Given the description of an element on the screen output the (x, y) to click on. 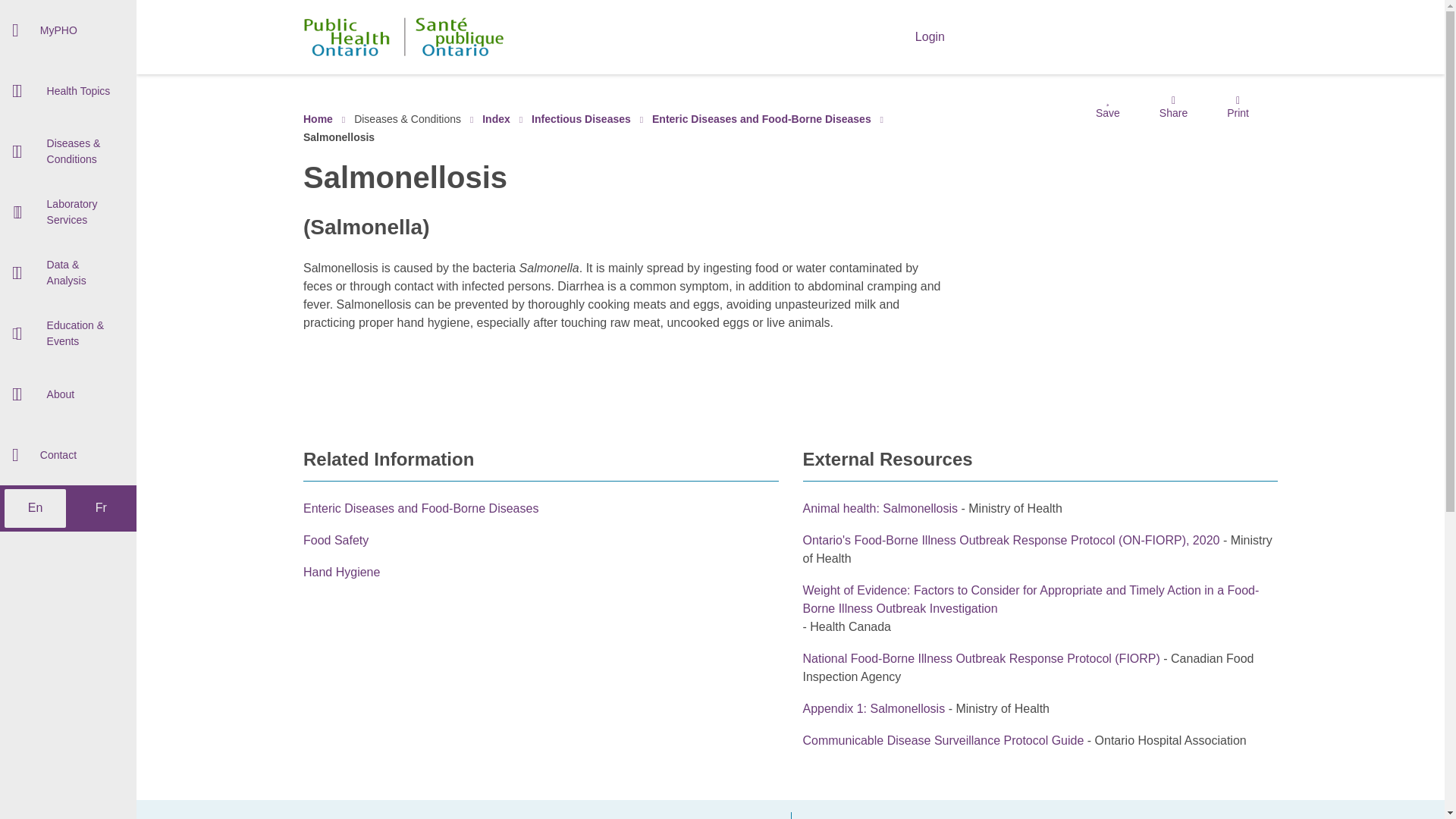
Water Quality (68, 291)
MyPHO (68, 30)
Urinary Tract Infection Program (68, 302)
Health Promotion (68, 234)
Antimicrobial Stewardship Strategies (68, 195)
Health Topics (68, 90)
Air Quality (68, 93)
Antimicrobial Stewardship in Acute Care (68, 77)
Antimicrobial Stewardship (68, 28)
Health Hazards (68, 251)
Antimicrobial Stewardship in Long Term Care (68, 116)
Mental Health (68, 274)
Healthy Environments (68, 212)
Antimicrobial Stewardship (68, 76)
Equipment Loan Program (68, 133)
